Given the description of an element on the screen output the (x, y) to click on. 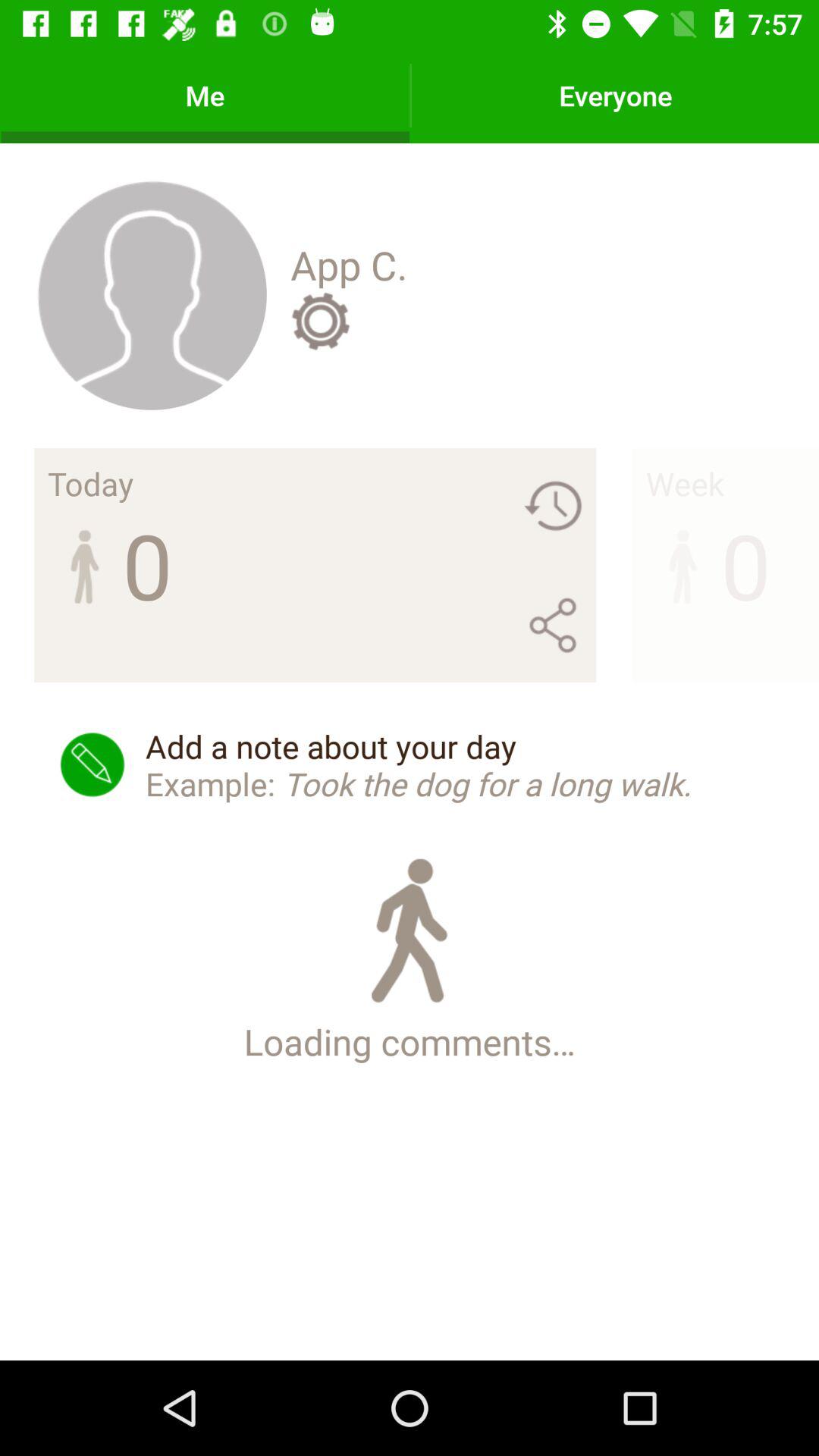
swipe until the today icon (90, 483)
